Given the description of an element on the screen output the (x, y) to click on. 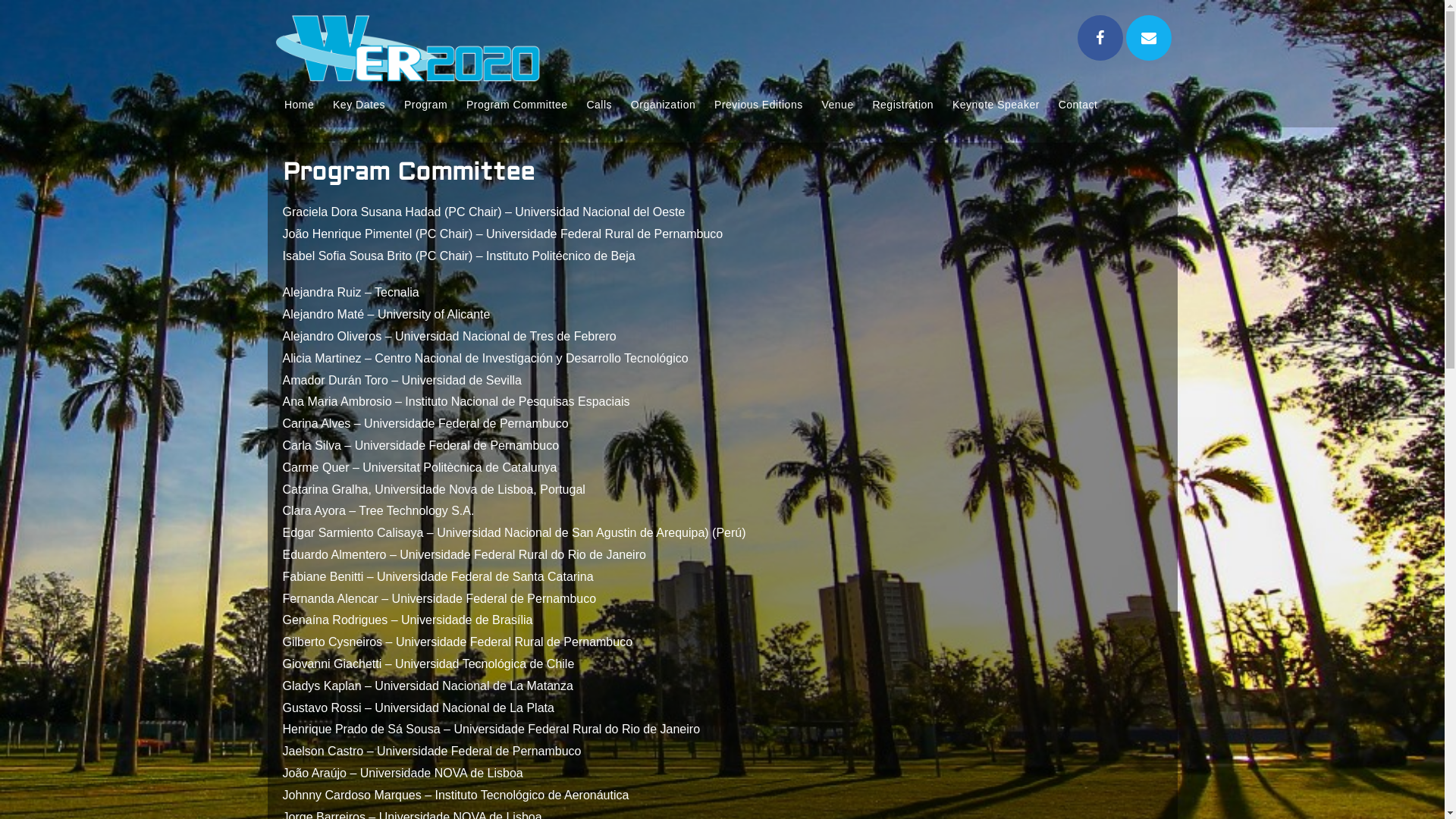
Registration Element type: text (902, 104)
Key Dates Element type: text (359, 104)
Previous Editions Element type: text (758, 104)
Venue Element type: text (837, 104)
Home Element type: text (298, 104)
Calls Element type: text (599, 104)
Organization Element type: text (662, 104)
Program Element type: text (426, 104)
Keynote Speaker Element type: text (996, 104)
Program Committee Element type: text (516, 104)
Contact Element type: text (1077, 104)
